Given the description of an element on the screen output the (x, y) to click on. 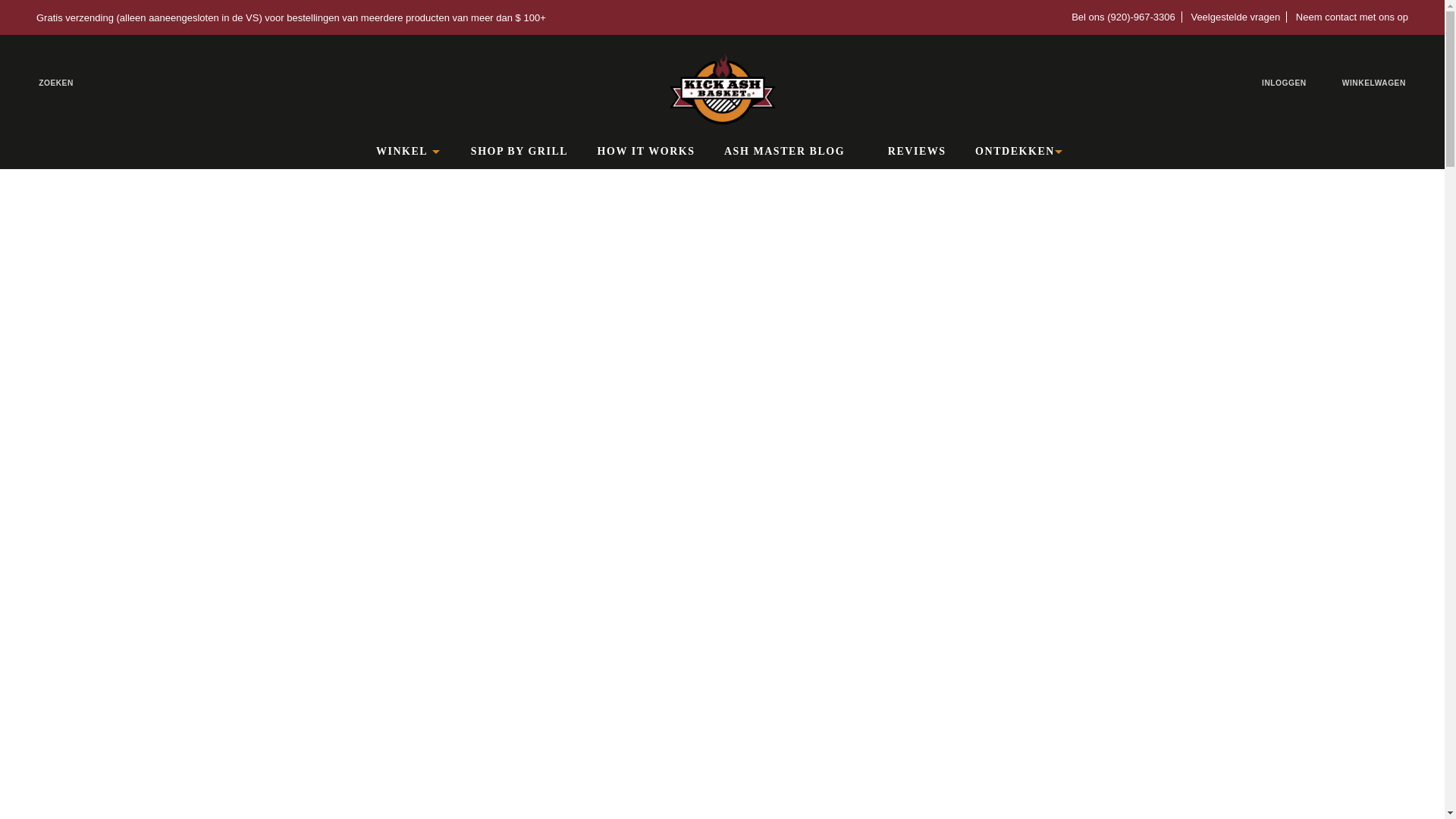
WINKELWAGEN (1384, 83)
Veelgestelde vragen (1236, 16)
Customer Account Login (1294, 83)
ZOEKEN (45, 83)
Shopping Cart (1384, 83)
SHOP BY GRILL (520, 151)
WINKEL (409, 151)
HOW IT WORKS (645, 151)
ASH MASTER BLOG (791, 151)
Search Icon (45, 83)
Skip to main content (16, 16)
REVIEWS (916, 151)
ONTDEKKEN (1021, 151)
INLOGGEN (1294, 83)
Neem contact met ons op (1348, 16)
